Given the description of an element on the screen output the (x, y) to click on. 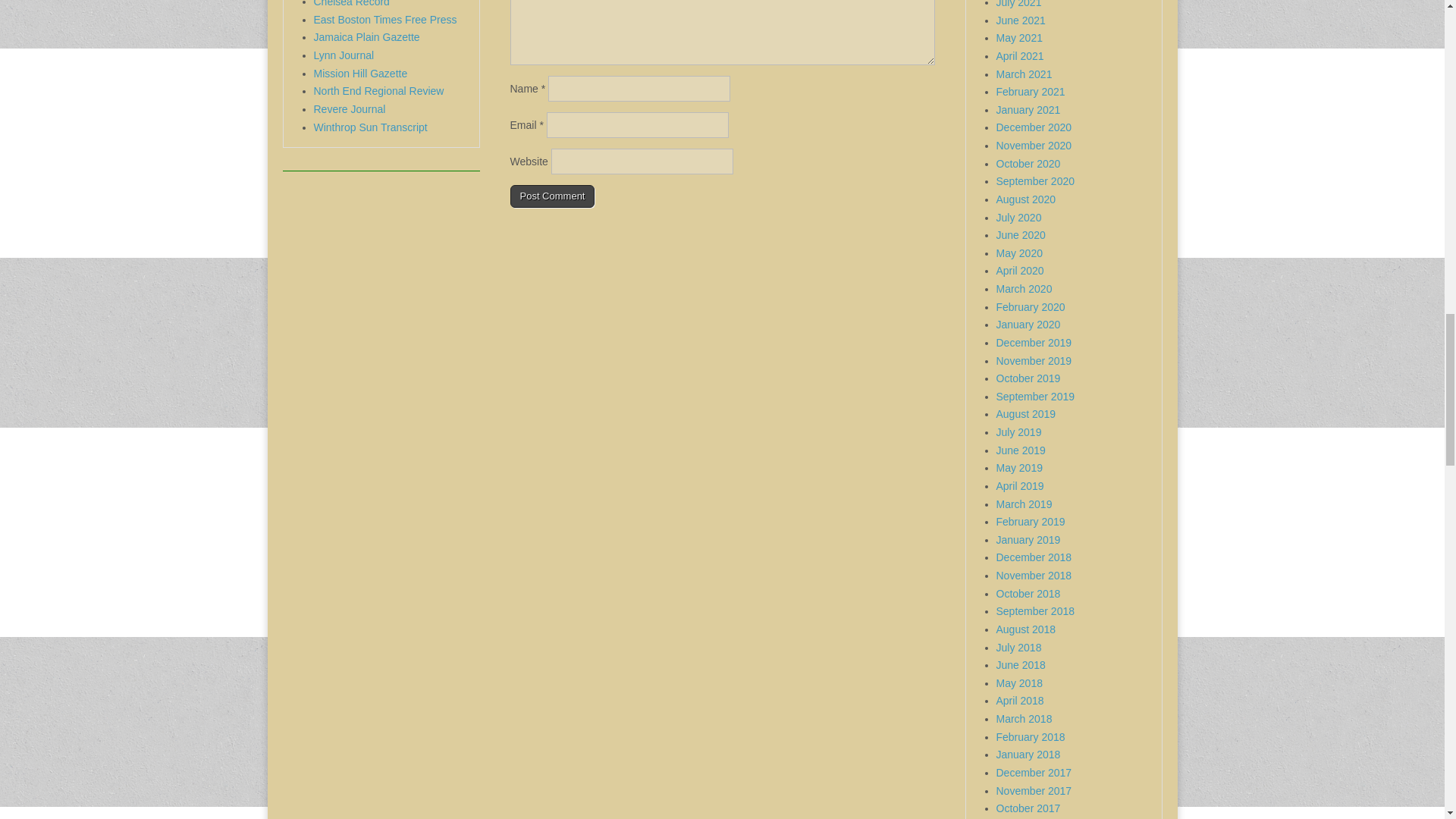
East Boston Times Free Press (385, 19)
Lynn Journal (344, 55)
Chelsea Record (352, 3)
Post Comment (551, 196)
Jamaica Plain Gazette (367, 37)
Post Comment (551, 196)
